Given the description of an element on the screen output the (x, y) to click on. 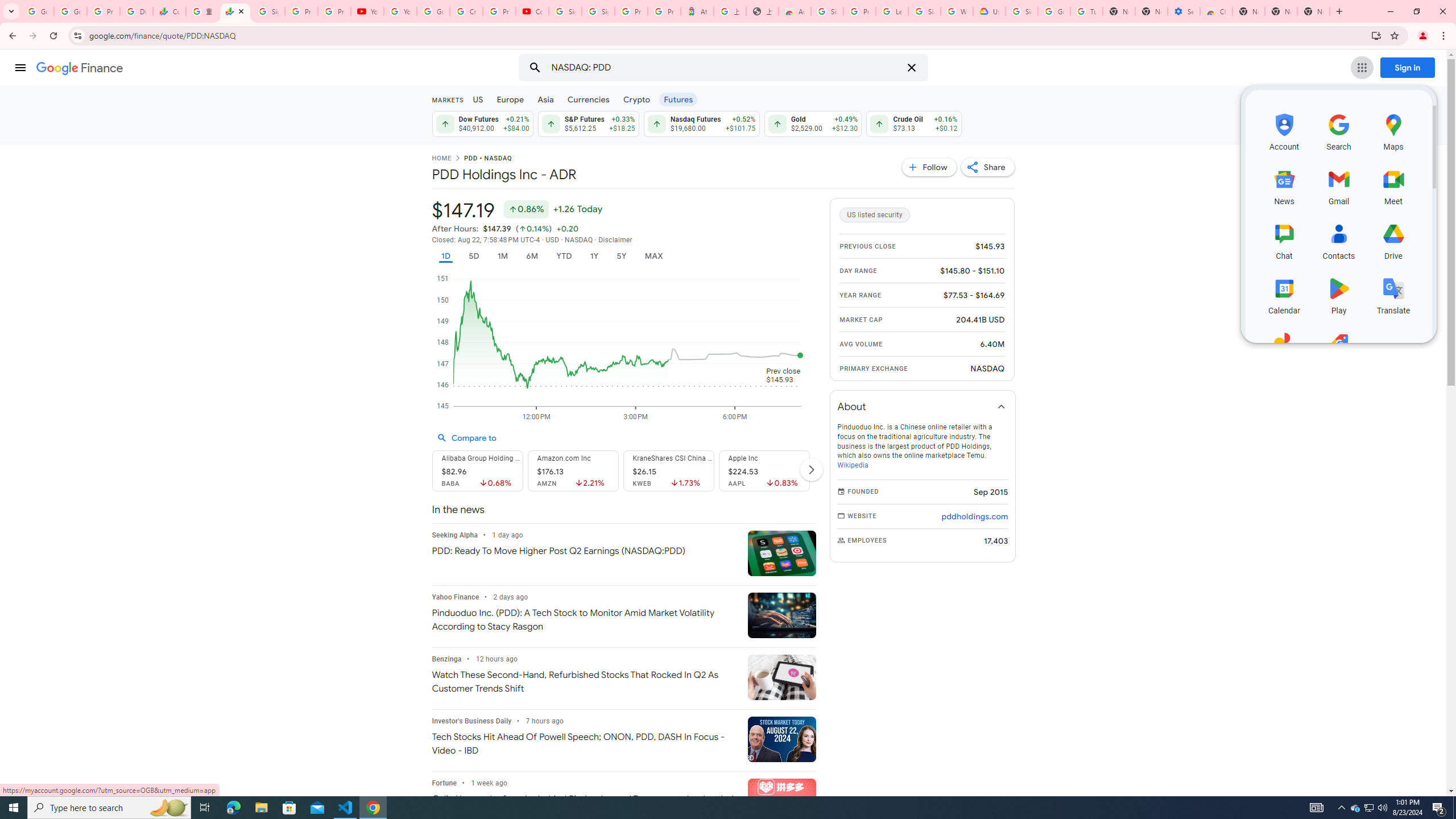
Clear search (911, 67)
Nasdaq Futures $19,680.00 Up by 0.55% +$101.75 (701, 123)
